Given the description of an element on the screen output the (x, y) to click on. 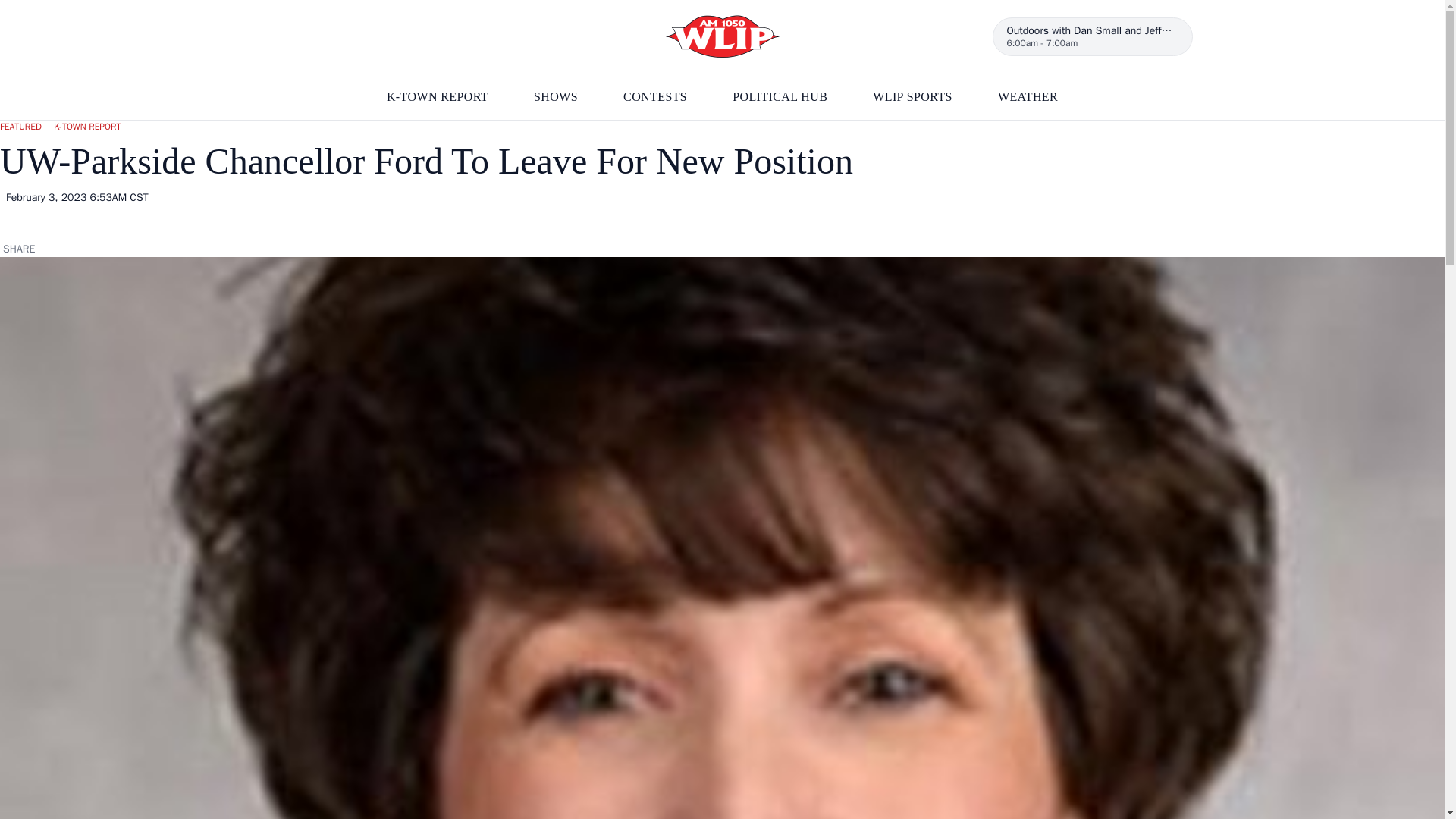
SHOWS (556, 96)
POLITICAL HUB (779, 96)
K-TOWN REPORT (437, 96)
WEATHER (1092, 36)
WLIP SPORTS (1027, 96)
AM 1050 WLIP (912, 96)
CONTESTS (721, 36)
